Given the description of an element on the screen output the (x, y) to click on. 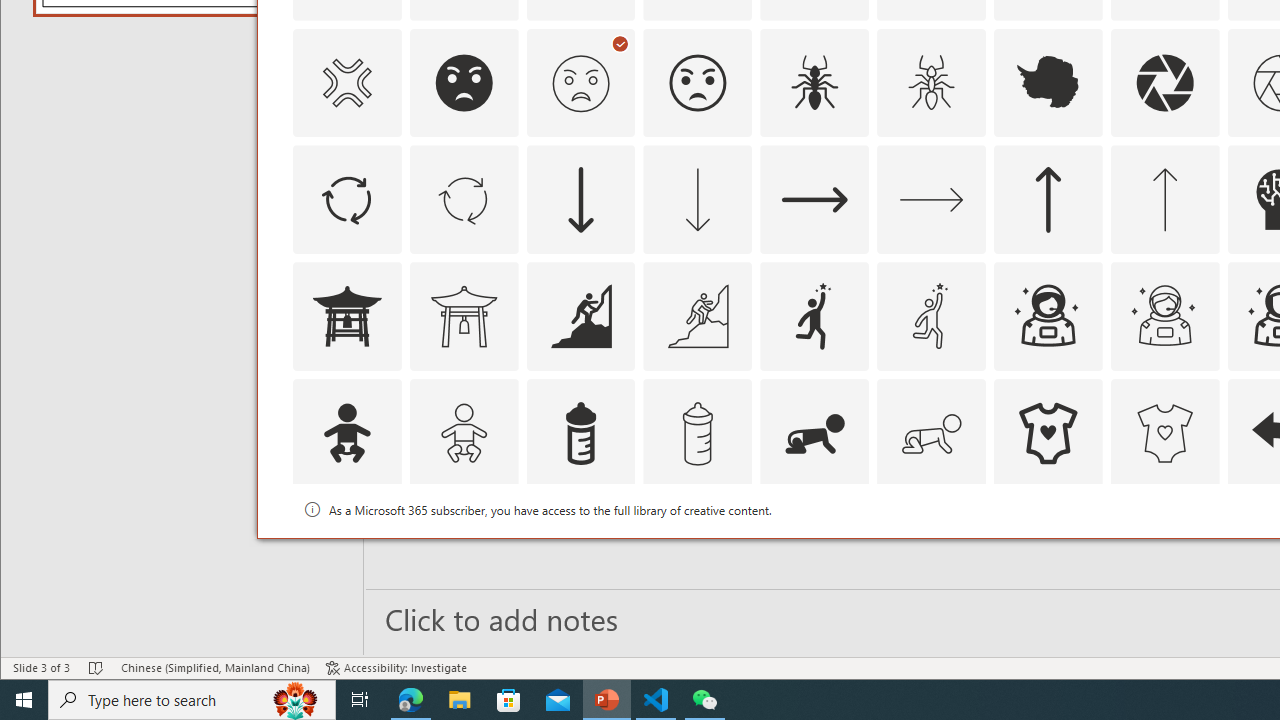
AutomationID: Icons_Baby (346, 434)
AutomationID: Icons_Antarctica (1048, 82)
AutomationID: Icons_ArrowRight (815, 200)
AutomationID: Icons_Aperture (1164, 82)
AutomationID: Icons_AngryFace (463, 82)
AutomationID: Icons_Badge10_M (346, 550)
